Given the description of an element on the screen output the (x, y) to click on. 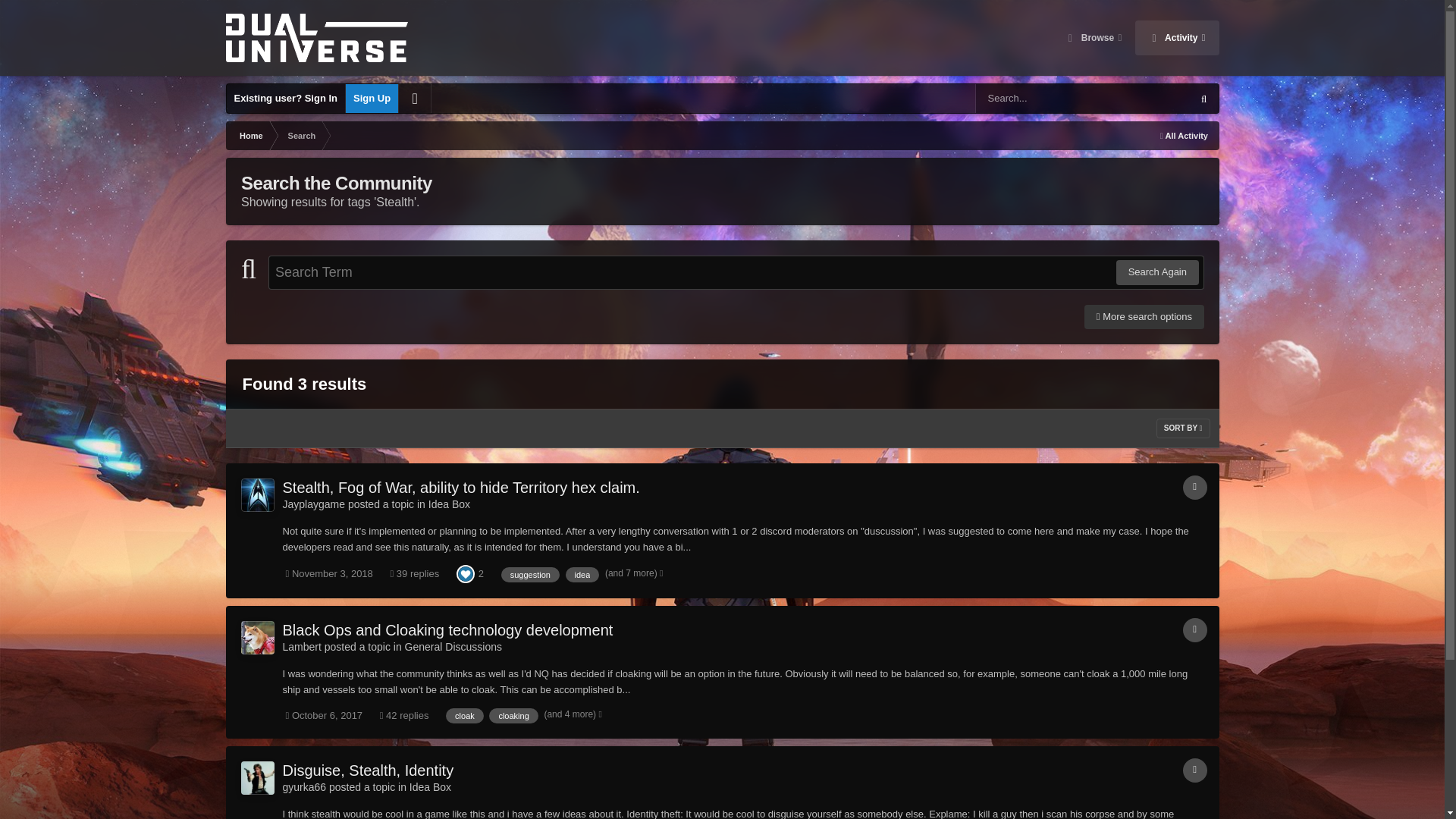
Go to Jayplaygame's profile (258, 494)
More search options (1143, 316)
Customizer (414, 98)
Sign Up (371, 98)
Home (250, 135)
Activity (1176, 37)
Search (299, 135)
Topic (1194, 487)
Browse (1093, 37)
Go to Jayplaygame's profile (313, 503)
Find other content tagged with 'idea' (582, 574)
Home (250, 135)
Find other content tagged with 'suggestion' (529, 574)
All Activity (1183, 135)
See who reacted "Like" (465, 573)
